Given the description of an element on the screen output the (x, y) to click on. 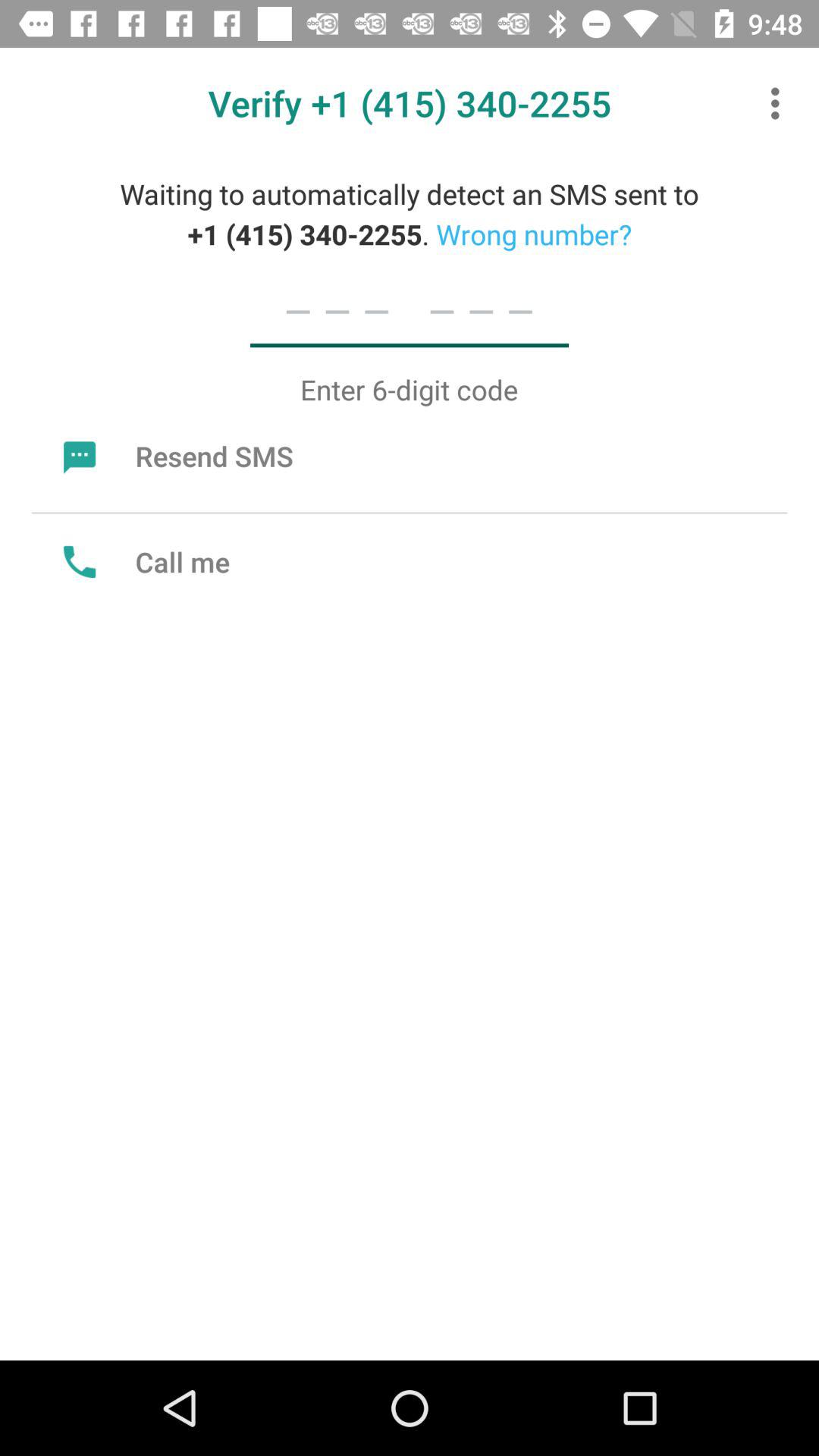
open the waiting to automatically item (409, 214)
